Given the description of an element on the screen output the (x, y) to click on. 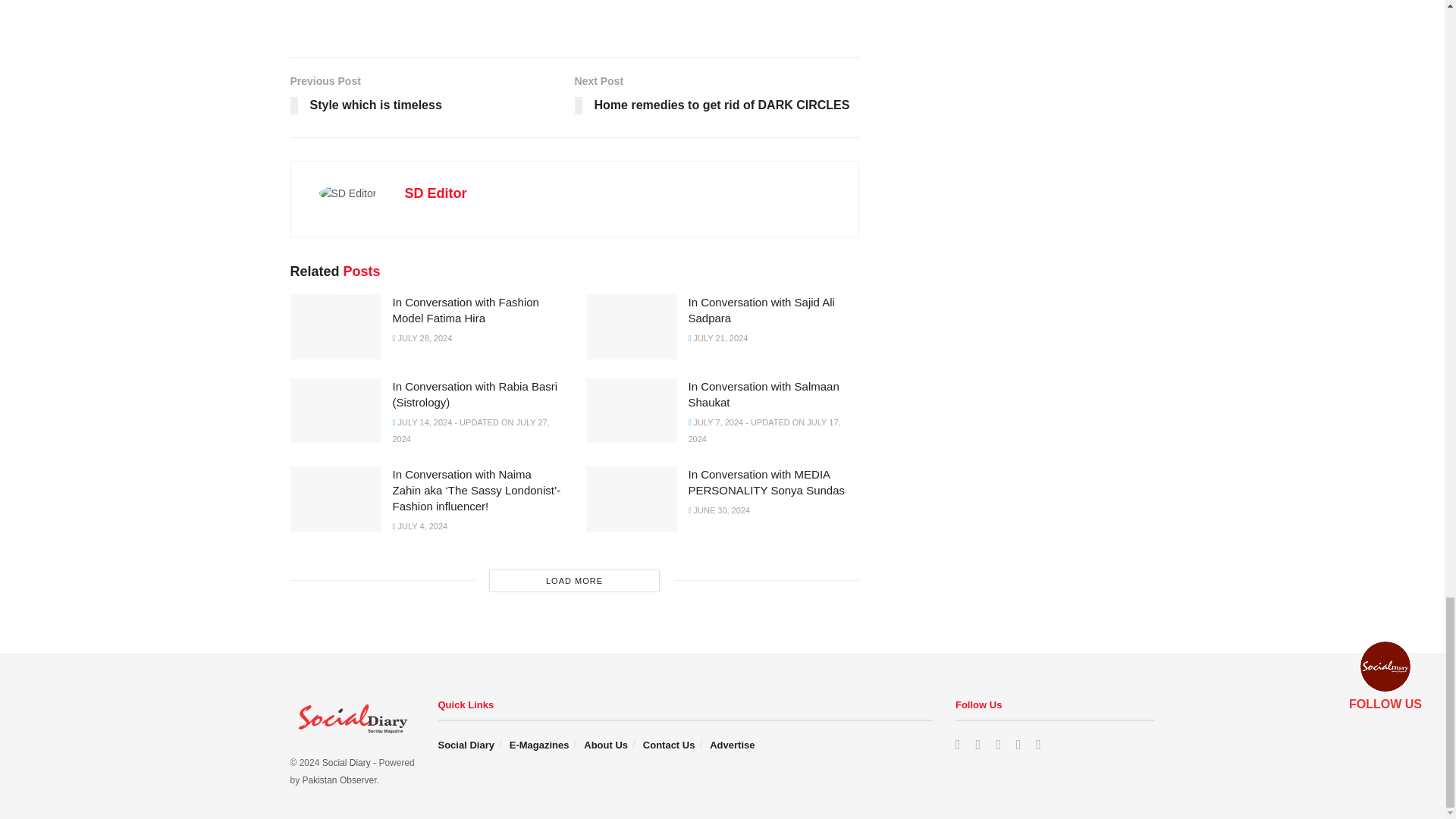
Webmaster (339, 779)
